Given the description of an element on the screen output the (x, y) to click on. 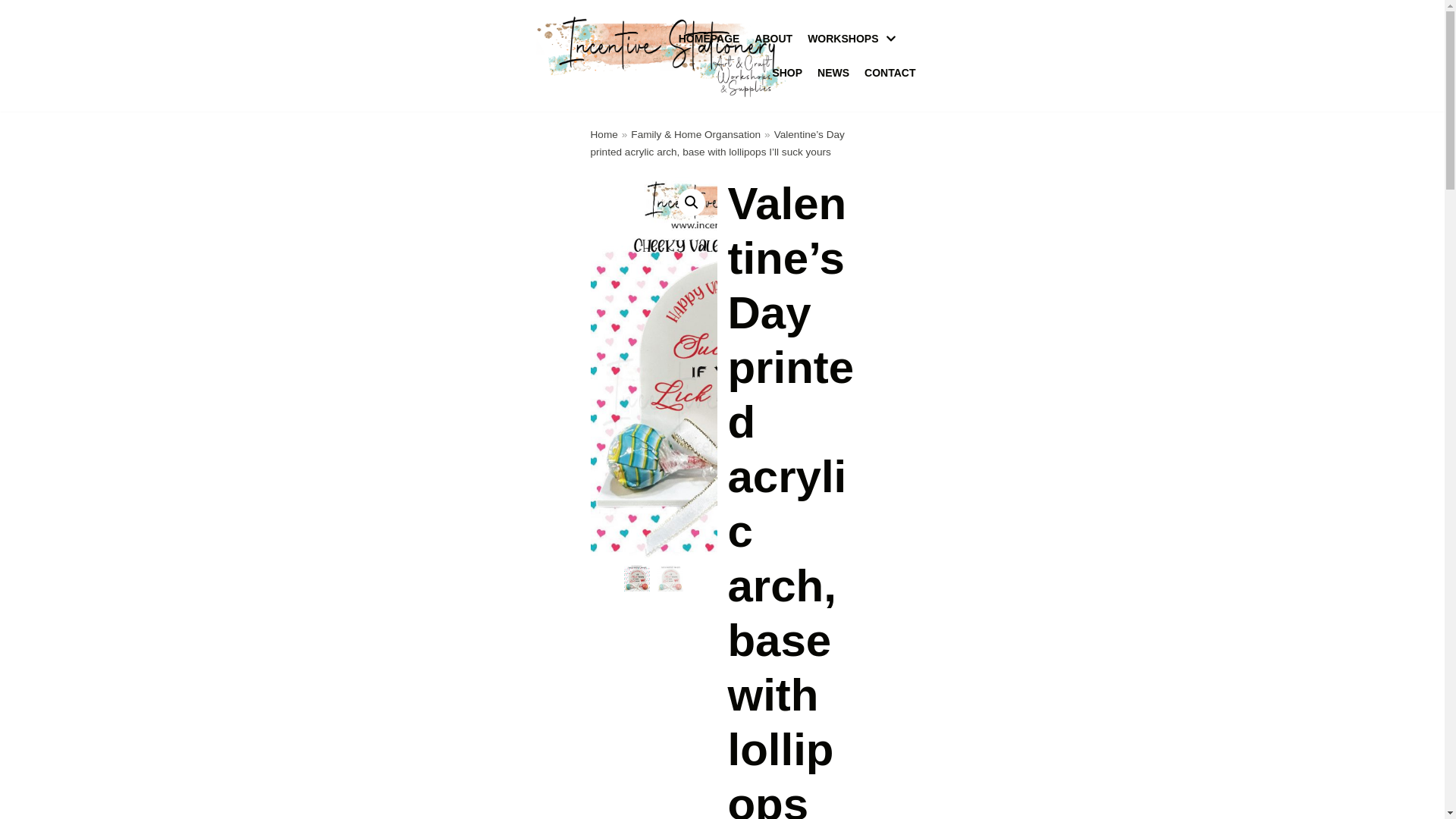
CONTACT (889, 72)
NEWS (832, 72)
HOMEPAGE (708, 37)
Incentive Stationery (661, 55)
WORKSHOPS (853, 37)
Skip to content (15, 31)
SHOP (786, 72)
Home (603, 134)
ABOUT (773, 37)
